Given the description of an element on the screen output the (x, y) to click on. 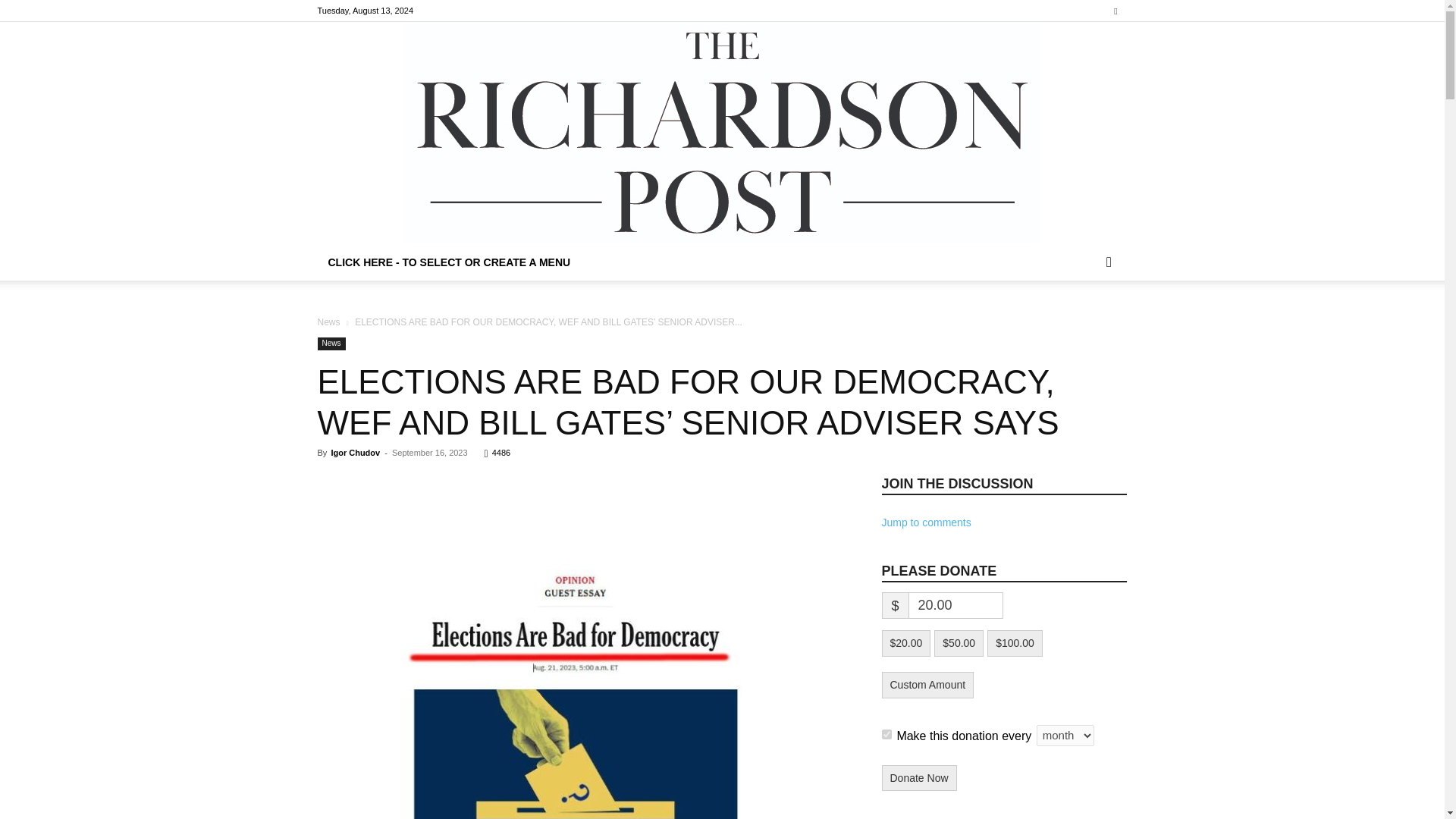
topFacebookLike (430, 480)
View all posts in News (328, 321)
20.00 (955, 605)
News (328, 321)
News (331, 343)
Search (1085, 322)
on (885, 734)
Facebook (1114, 10)
CLICK HERE - TO SELECT OR CREATE A MENU (448, 262)
